Given the description of an element on the screen output the (x, y) to click on. 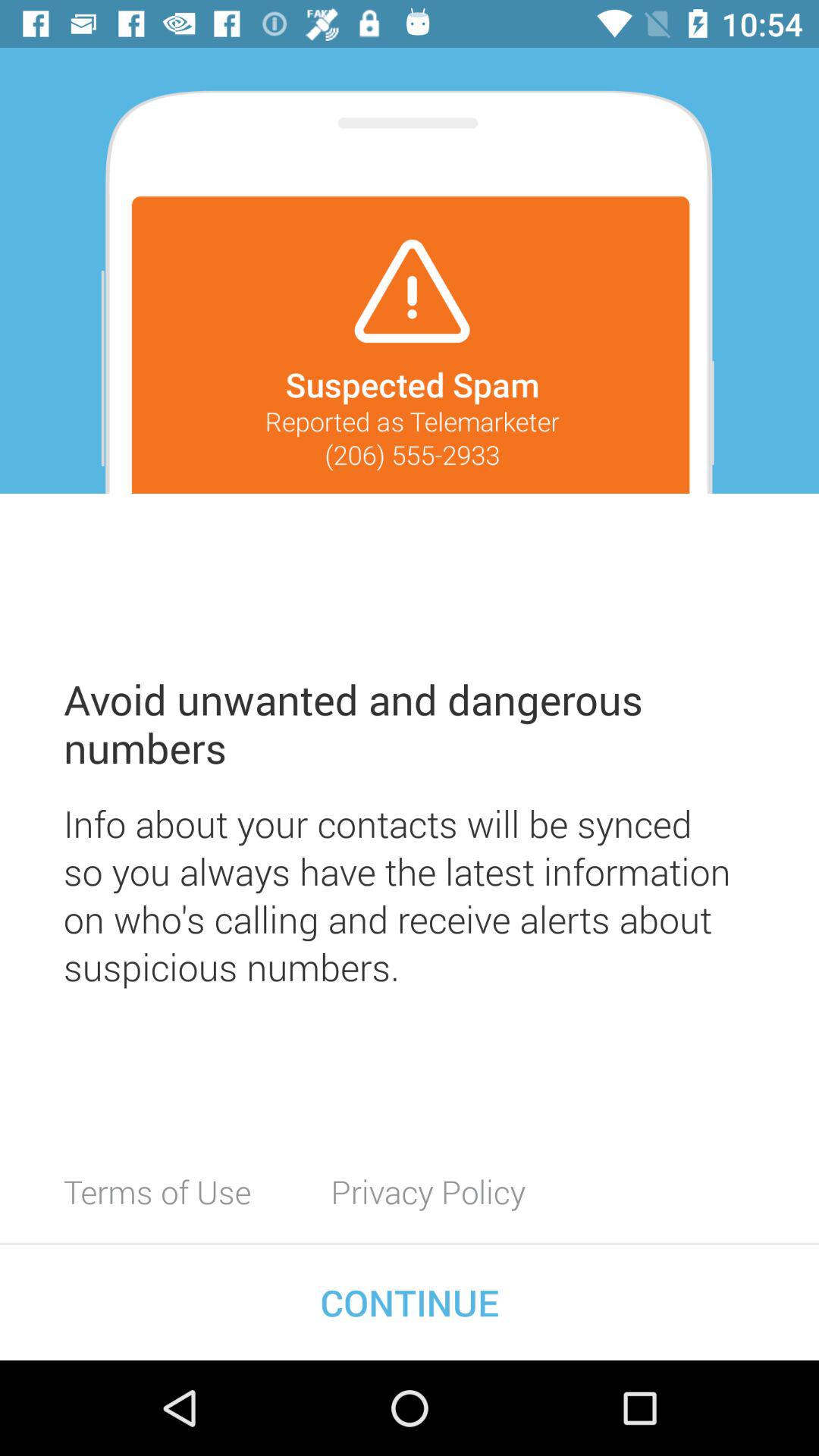
turn on item next to privacy policy icon (157, 1191)
